Given the description of an element on the screen output the (x, y) to click on. 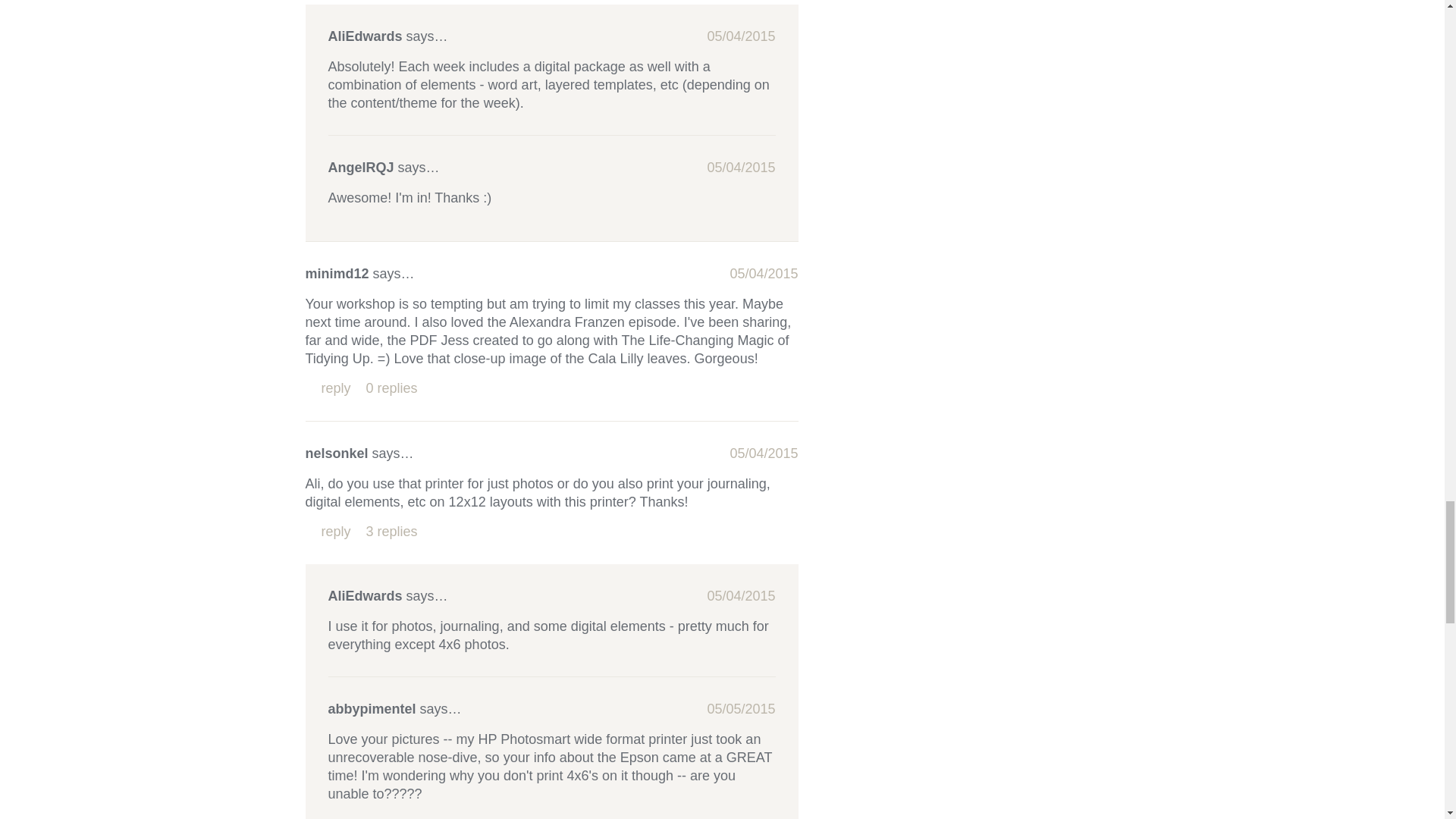
2015-05-04T17:48:16-04:00 (740, 595)
2015-05-04T17:49:08-04:00 (740, 36)
2015-05-04T15:34:39-04:00 (763, 273)
2015-05-05T17:35:25-04:00 (740, 708)
2015-05-04T21:48:04-04:00 (740, 167)
2015-05-04T17:25:13-04:00 (763, 453)
